Given the description of an element on the screen output the (x, y) to click on. 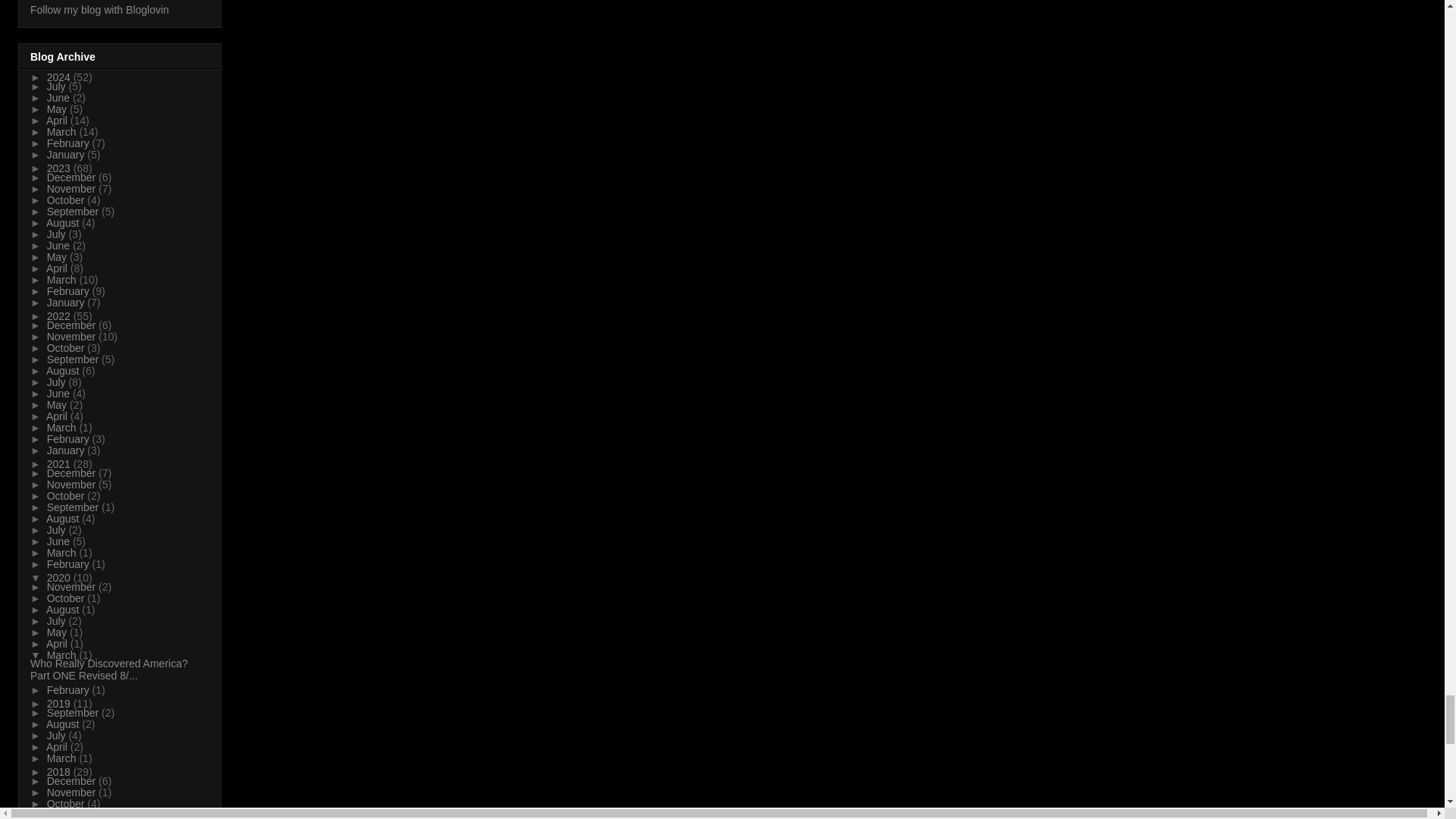
Follow my blog with Bloglovin (99, 9)
2024 (60, 77)
